Given the description of an element on the screen output the (x, y) to click on. 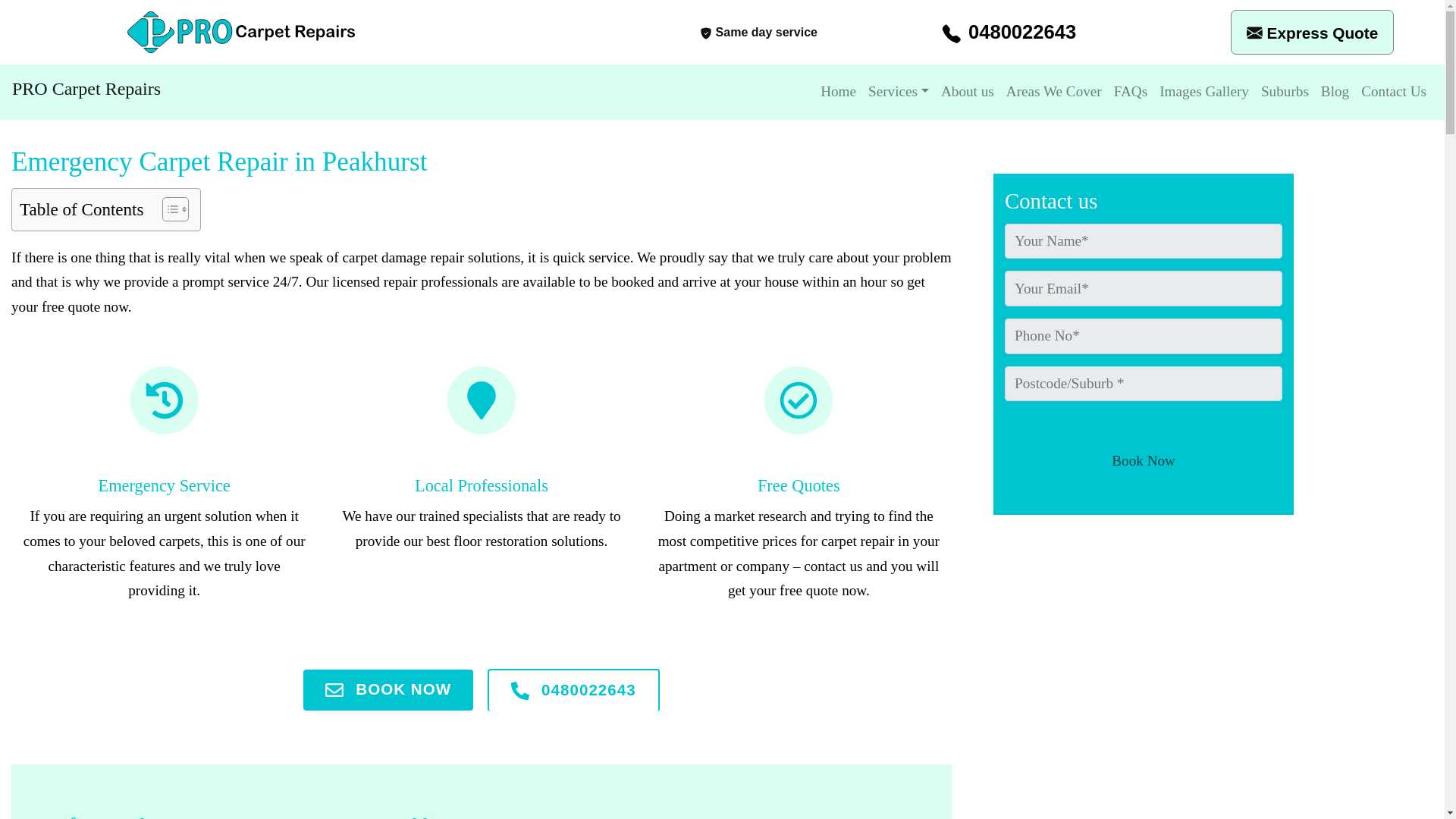
Services (897, 91)
About us (967, 91)
About us (967, 91)
PRO Carpet Repairs (85, 88)
Blog (1334, 91)
Express Quote (1322, 32)
Images Gallery (1204, 91)
Services (897, 91)
0480022643 (573, 690)
Blog (1334, 91)
FAQs (1130, 91)
Images Gallery (1204, 91)
PRO Carpet Repairs (85, 88)
BOOK NOW (387, 689)
Contact Us (1393, 91)
